Given the description of an element on the screen output the (x, y) to click on. 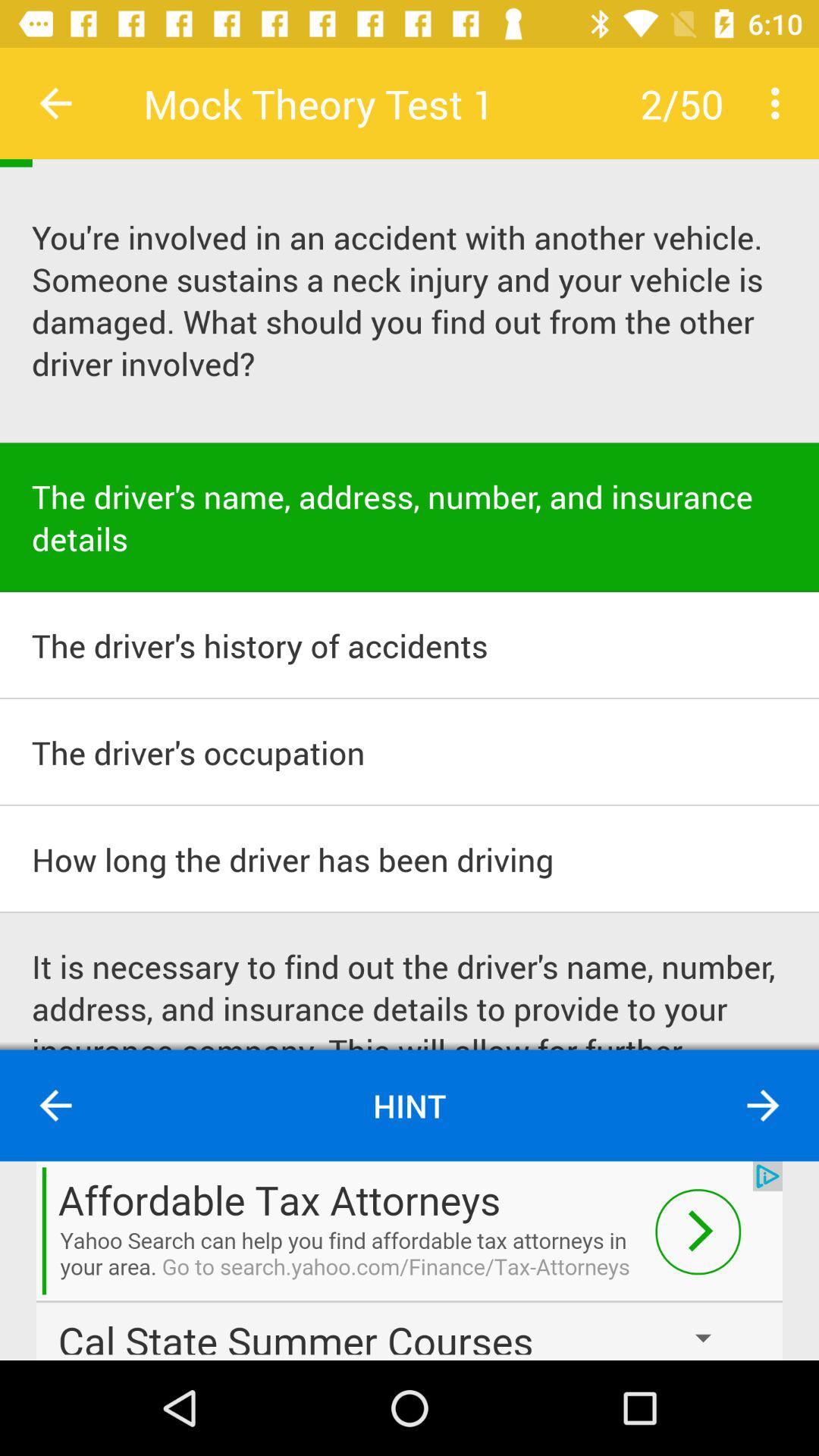
go back (55, 103)
